Given the description of an element on the screen output the (x, y) to click on. 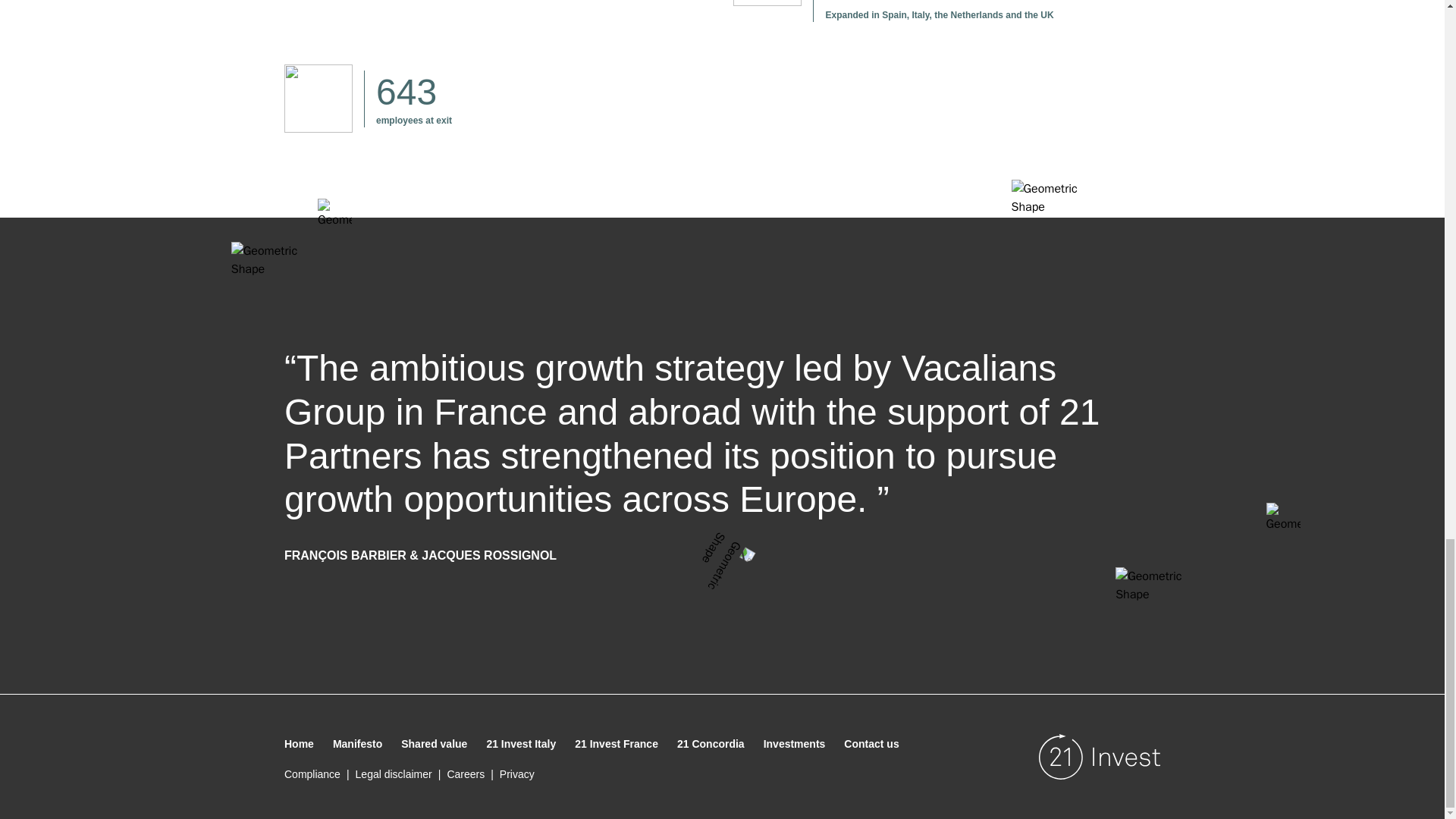
Investments (793, 743)
Privacy (519, 774)
Contact us (871, 743)
Home (298, 743)
21 Invest Italy (521, 743)
Manifesto (357, 743)
21 Concordia (710, 743)
Shared value (434, 743)
21 Invest France (616, 743)
